Given the description of an element on the screen output the (x, y) to click on. 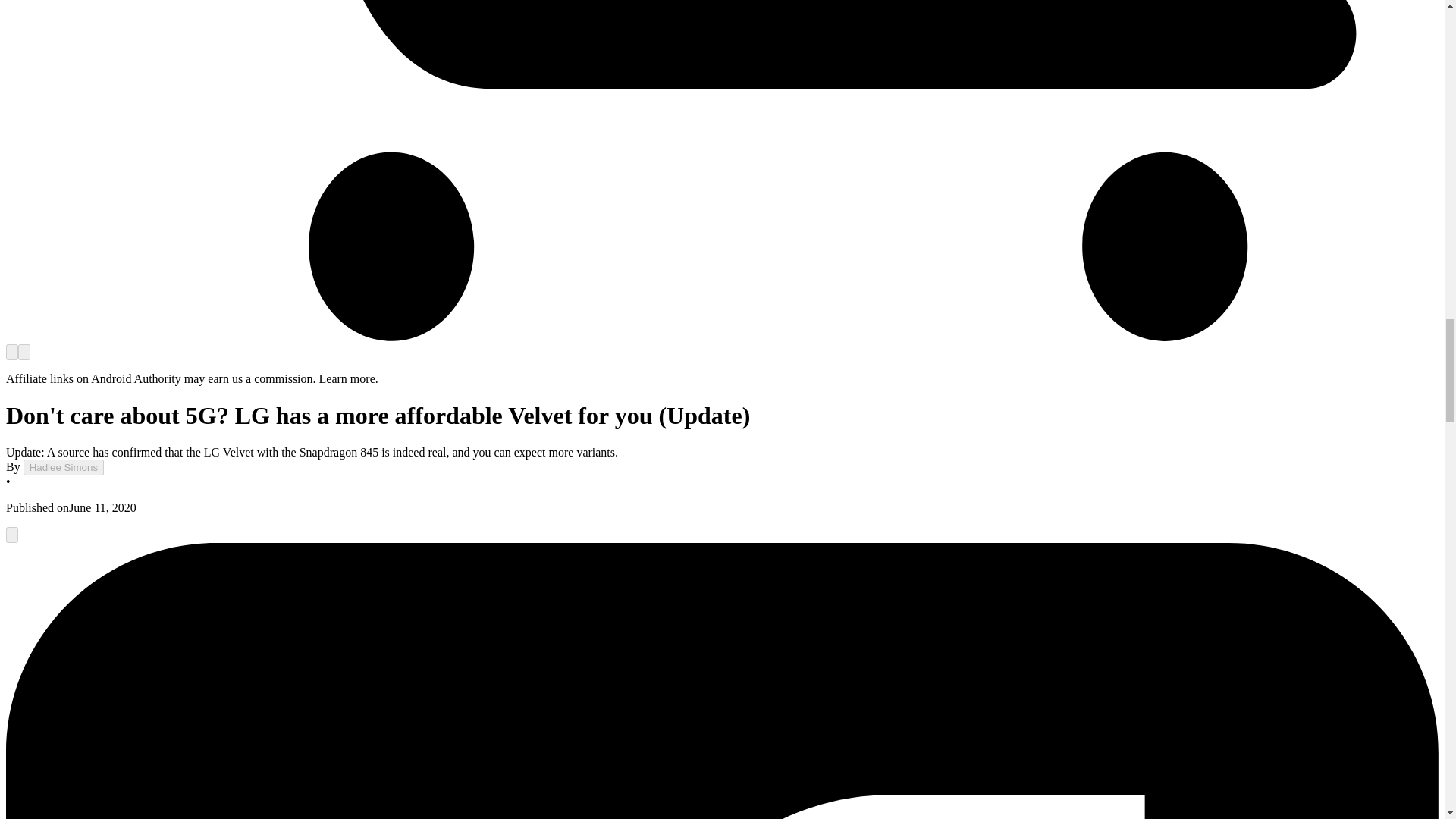
Hadlee Simons (63, 467)
Learn more. (348, 378)
